Given the description of an element on the screen output the (x, y) to click on. 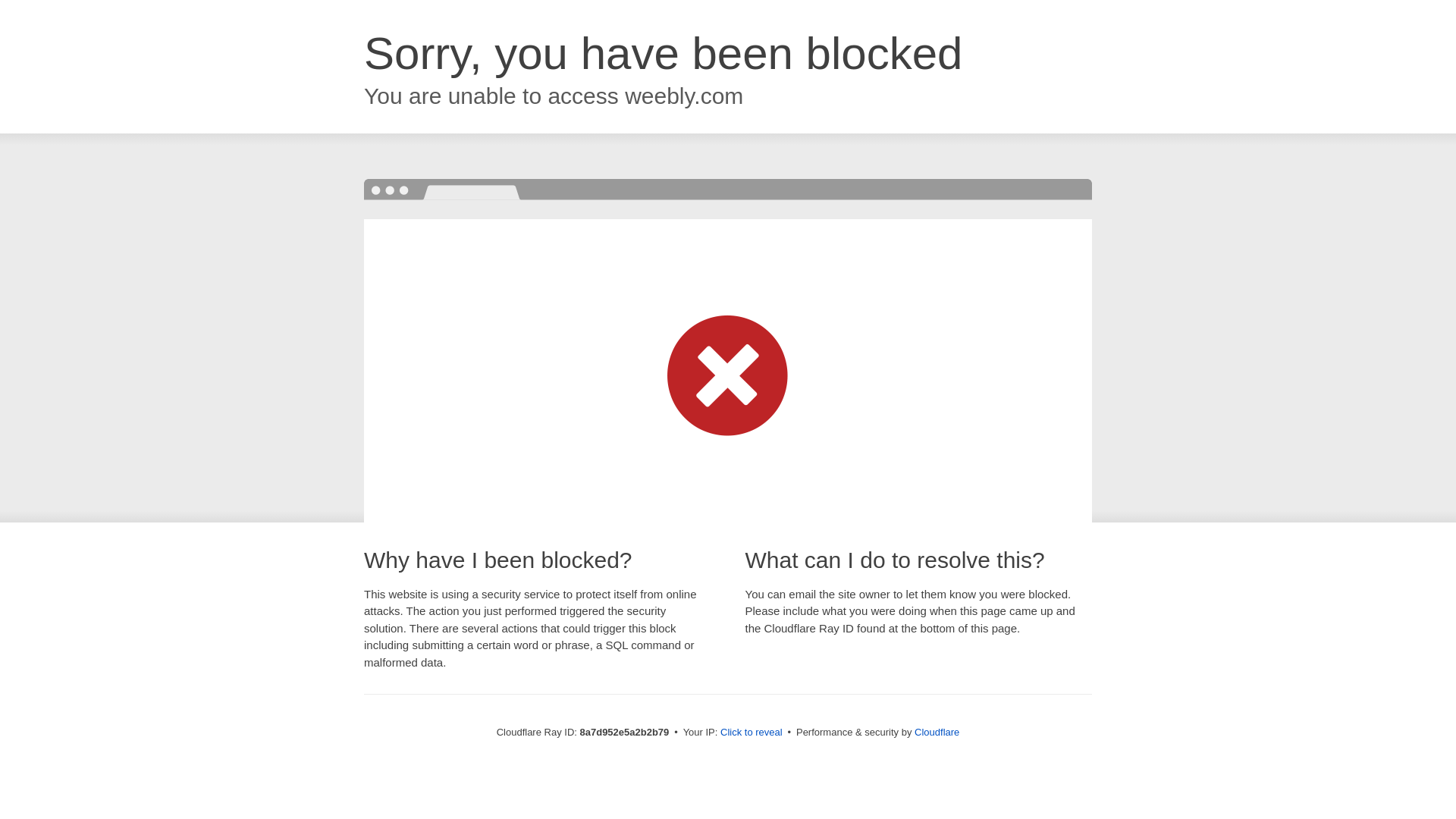
Click to reveal (751, 732)
Cloudflare (936, 731)
